Given the description of an element on the screen output the (x, y) to click on. 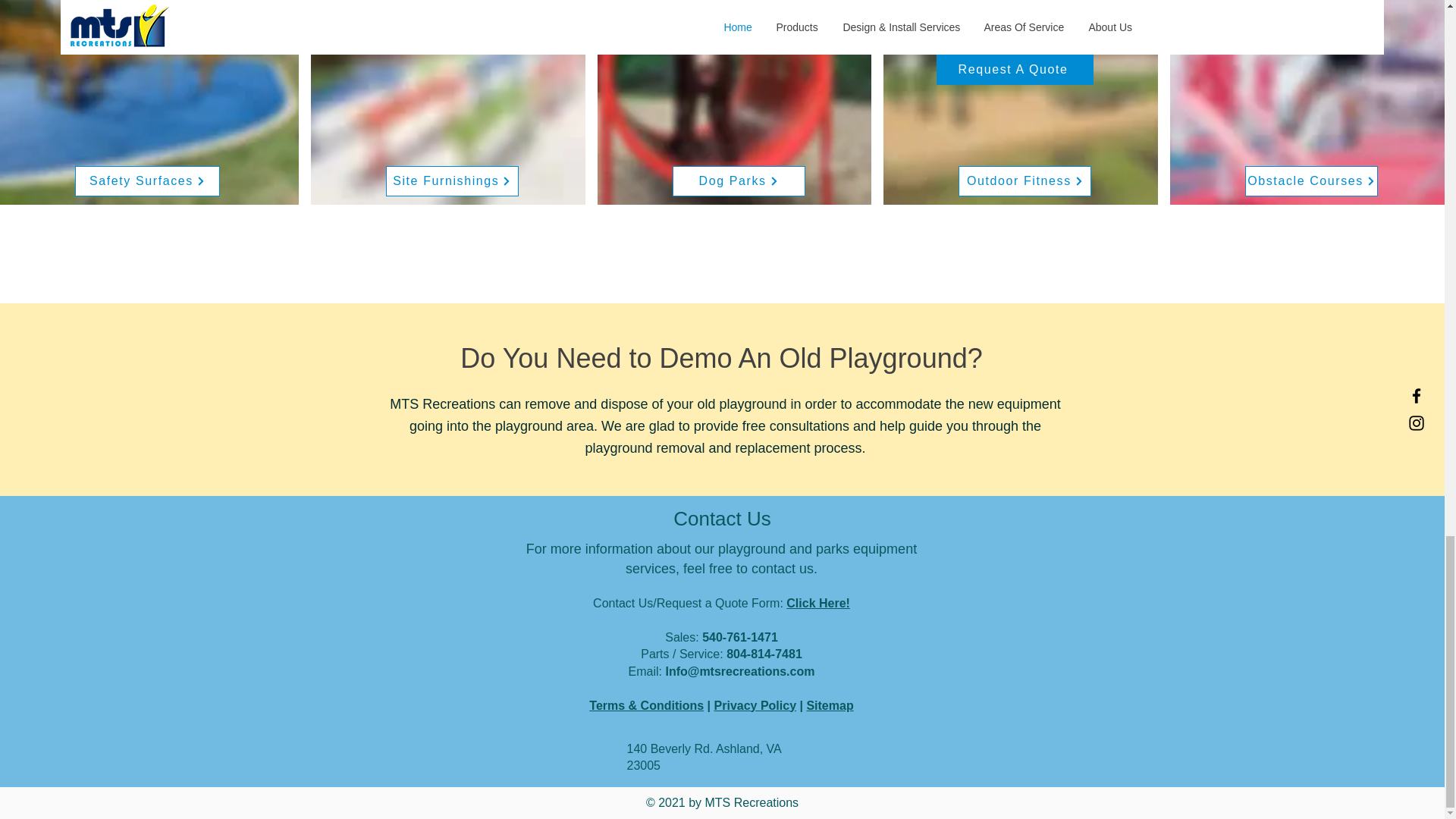
Sitemap (829, 704)
Obstacle Courses (1310, 181)
Privacy Policy (755, 704)
Outdoor Fitness (1024, 181)
Click Here! (818, 603)
Site Furnishings (451, 181)
540-761-1471 (739, 636)
Dog Parks (738, 181)
Safety Surfaces (147, 181)
